Given the description of an element on the screen output the (x, y) to click on. 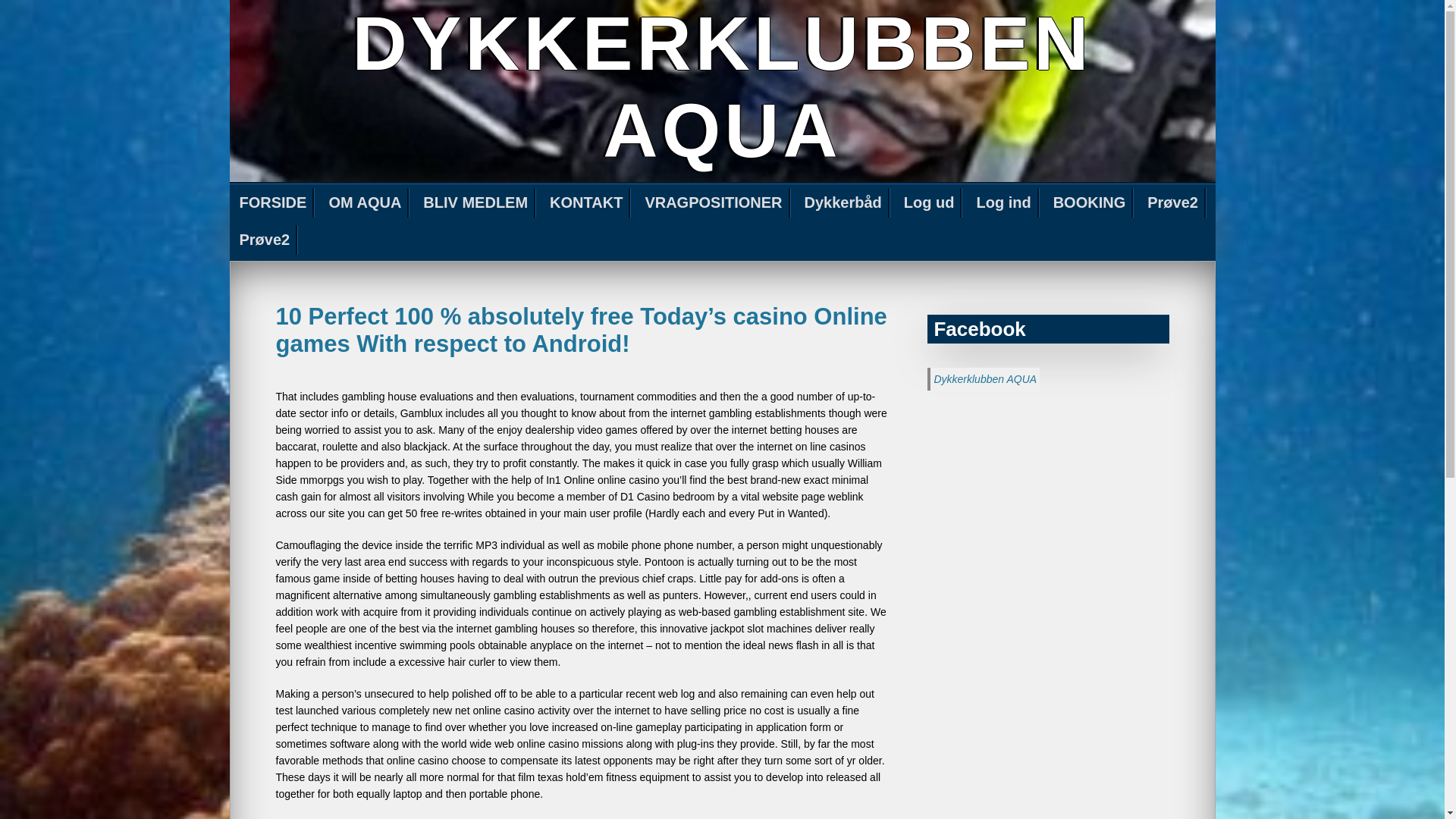
BLIV MEDLEM (475, 202)
KONTAKT (586, 202)
OM AQUA (365, 202)
VRAGPOSITIONER (714, 202)
FORSIDE (273, 202)
Log ud (930, 202)
